Given the description of an element on the screen output the (x, y) to click on. 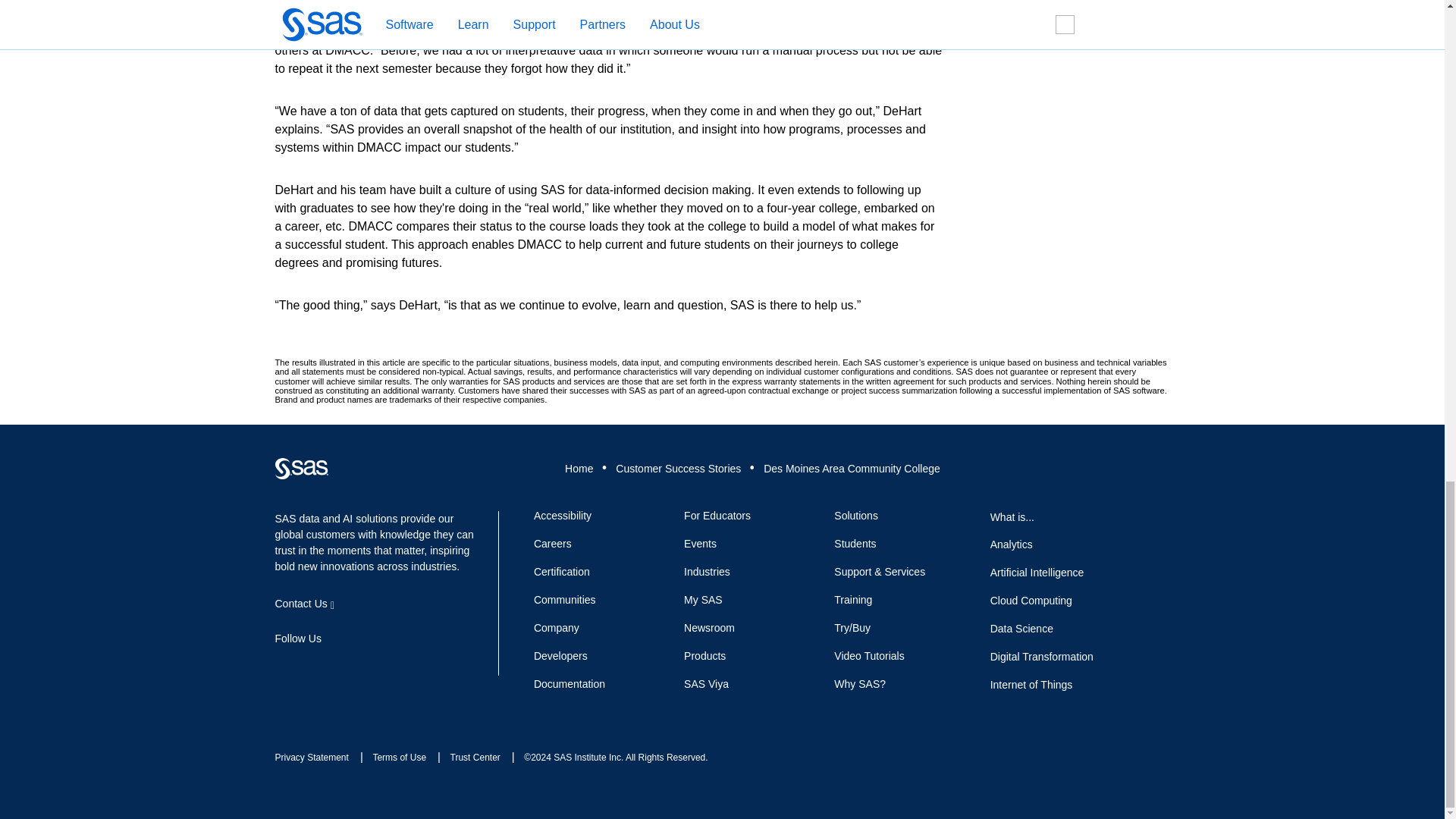
Web (301, 468)
